Given the description of an element on the screen output the (x, y) to click on. 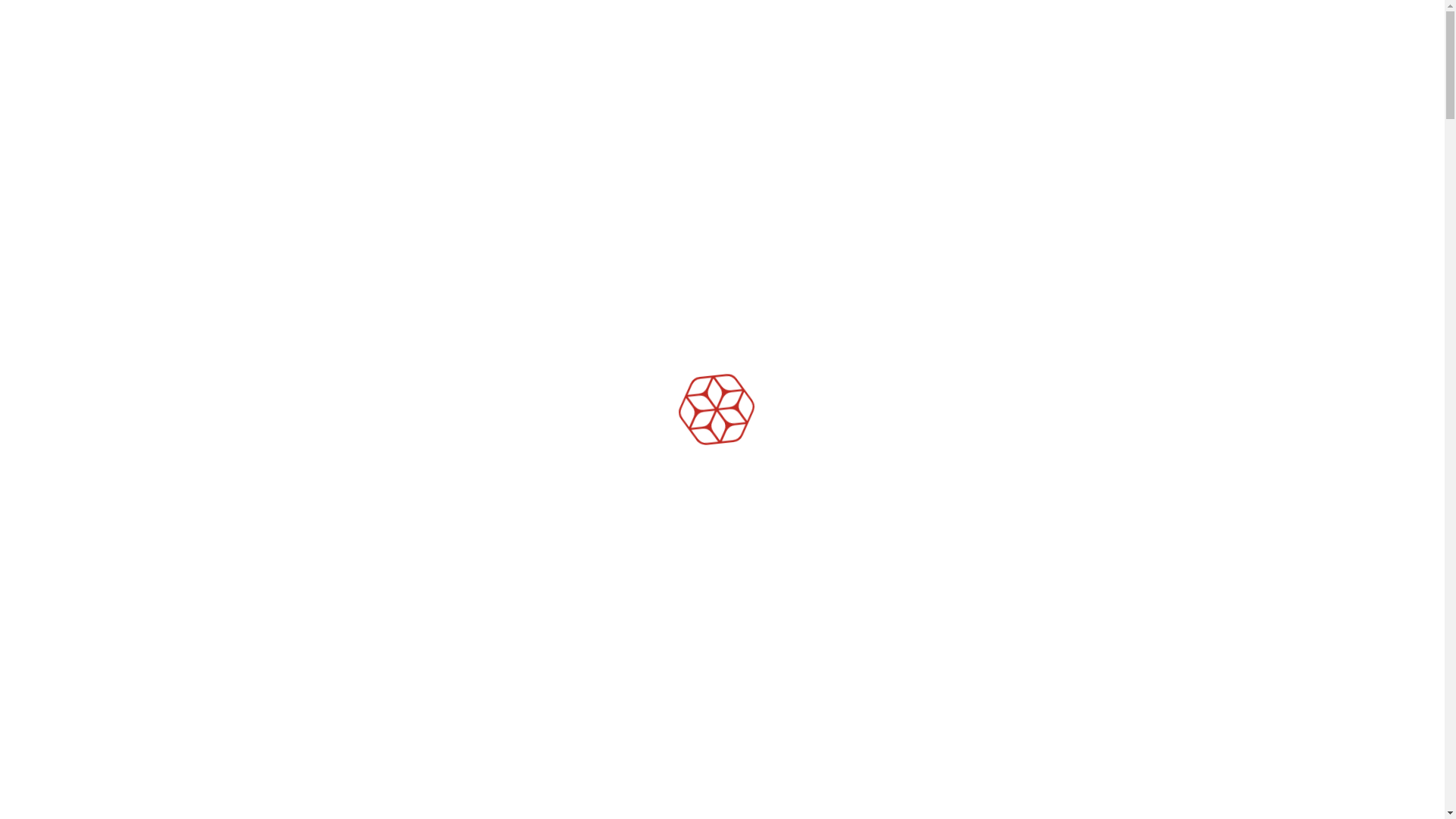
SERVICES Element type: text (461, 52)
Amadeus Capital Element type: text (156, 67)
TEAM Element type: text (907, 52)
DE Element type: text (1372, 48)
NEWS Element type: text (998, 52)
INVESTING Element type: text (594, 52)
ABOUT Element type: text (346, 52)
QUANTAMENTAL Element type: text (763, 52)
EN Element type: text (1278, 48)
FR Element type: text (1325, 48)
CONTACT Element type: text (1107, 52)
Next Element type: text (107, 783)
